Given the description of an element on the screen output the (x, y) to click on. 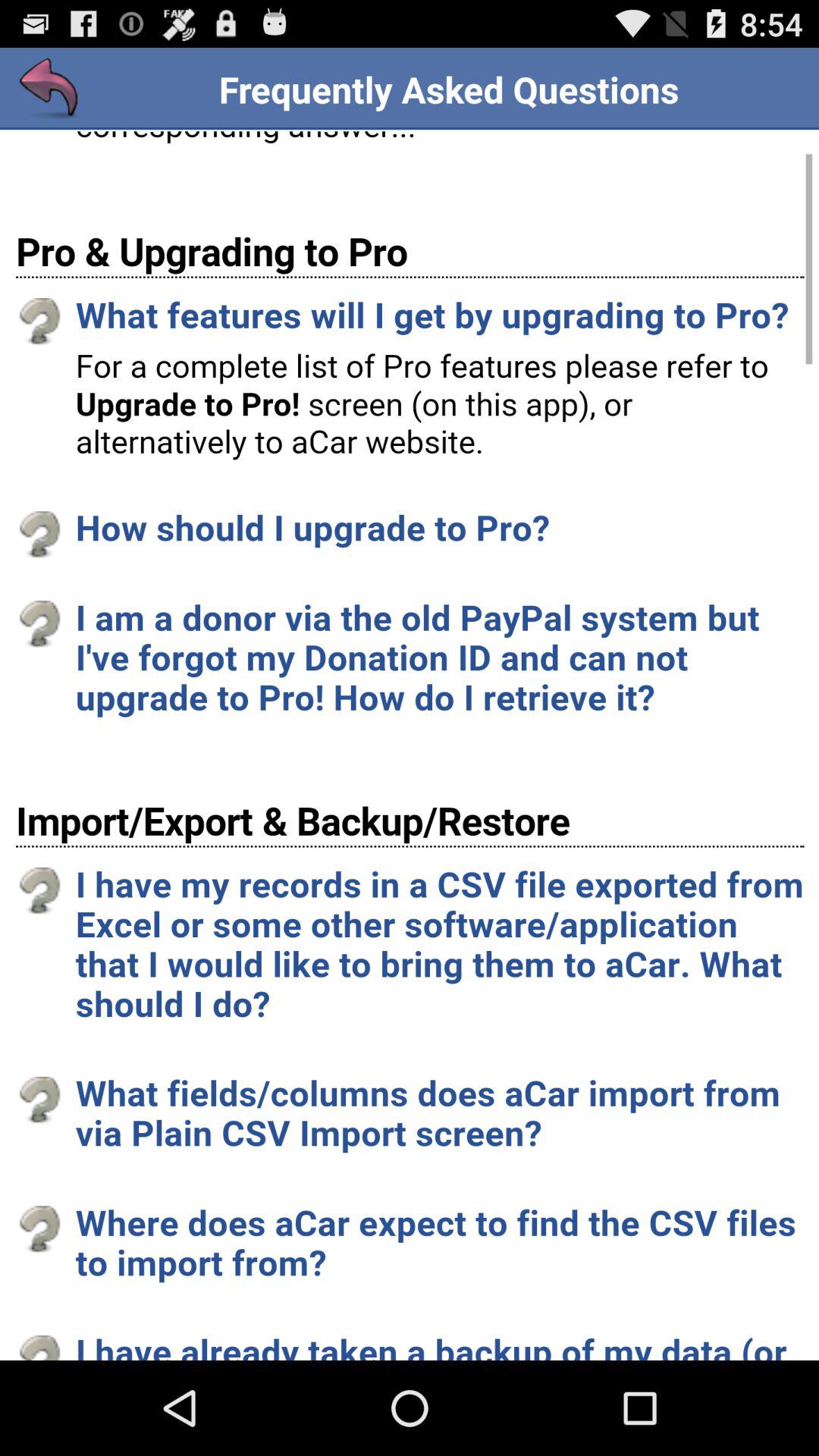
go to back button (49, 89)
